Given the description of an element on the screen output the (x, y) to click on. 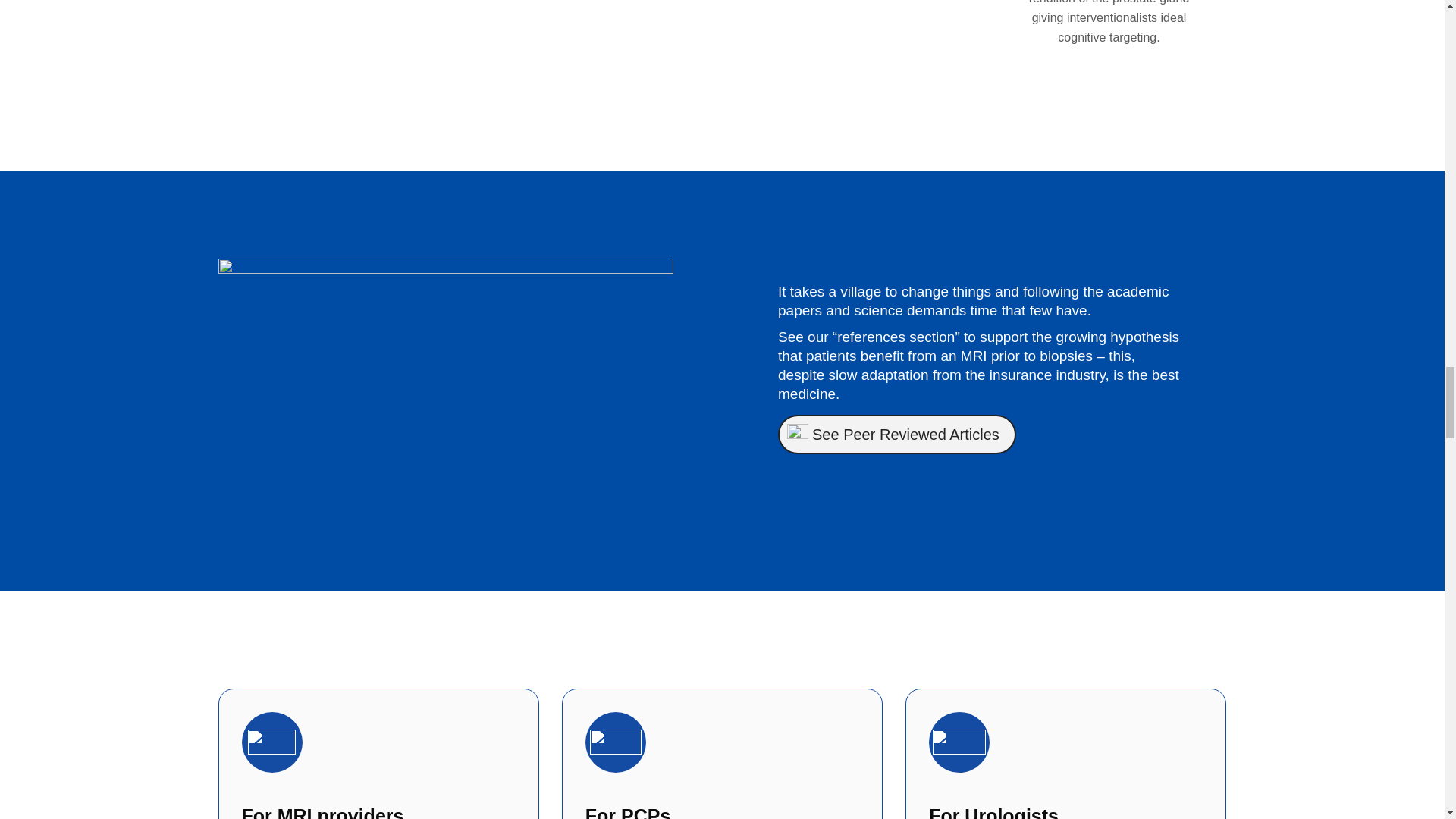
See Peer Reviewed Articles (896, 434)
